Given the description of an element on the screen output the (x, y) to click on. 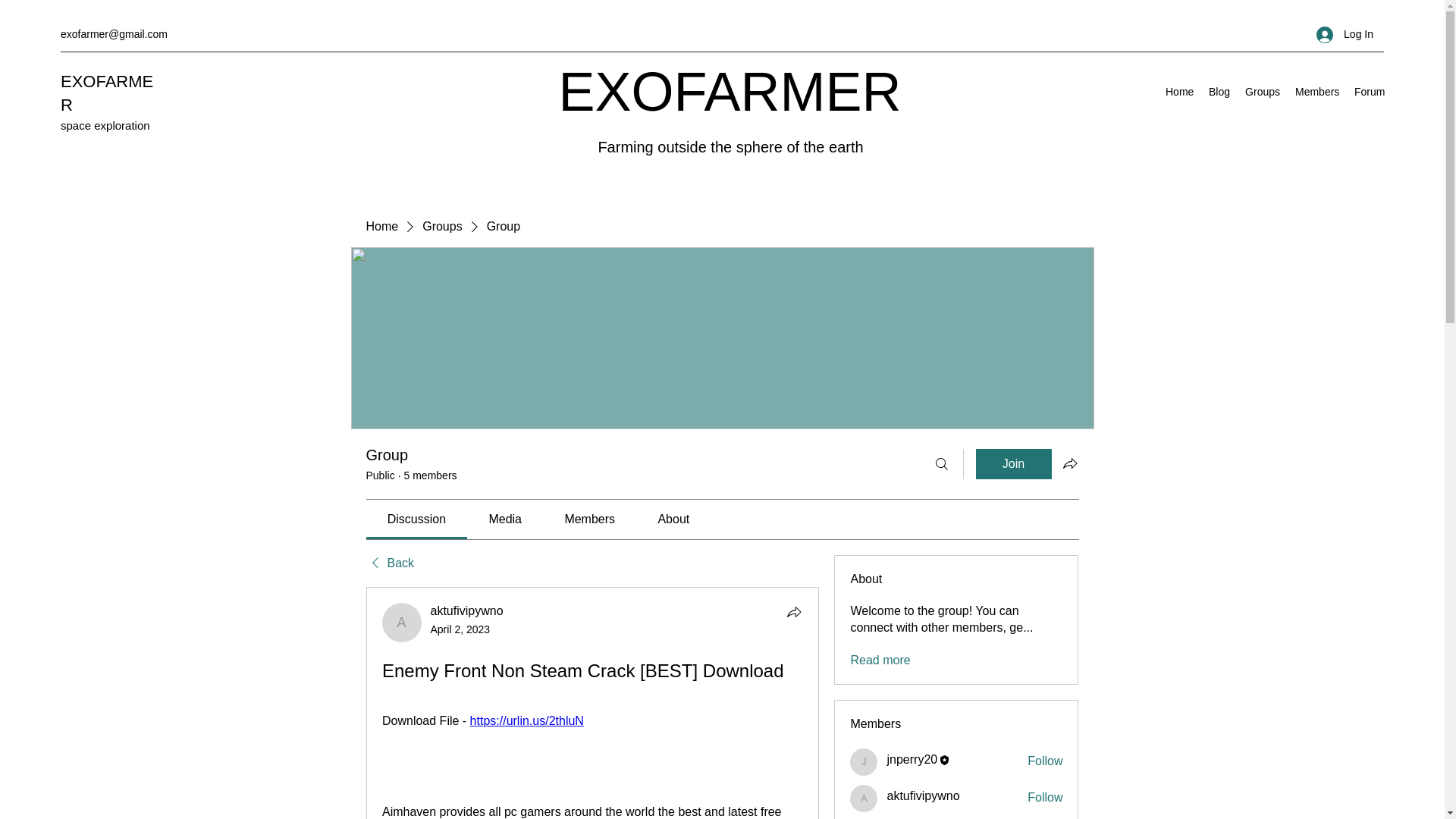
jnperry20 (863, 761)
aktufivipywno (863, 798)
Home (1179, 91)
Follow (1044, 760)
aktufivipywno (922, 795)
EXOFARMER (106, 93)
aktufivipywno (466, 610)
Log In (1345, 34)
Back (389, 563)
April 2, 2023 (460, 629)
Join (1013, 463)
Read more (880, 660)
Groups (1262, 91)
Home (381, 226)
Forum (1368, 91)
